Given the description of an element on the screen output the (x, y) to click on. 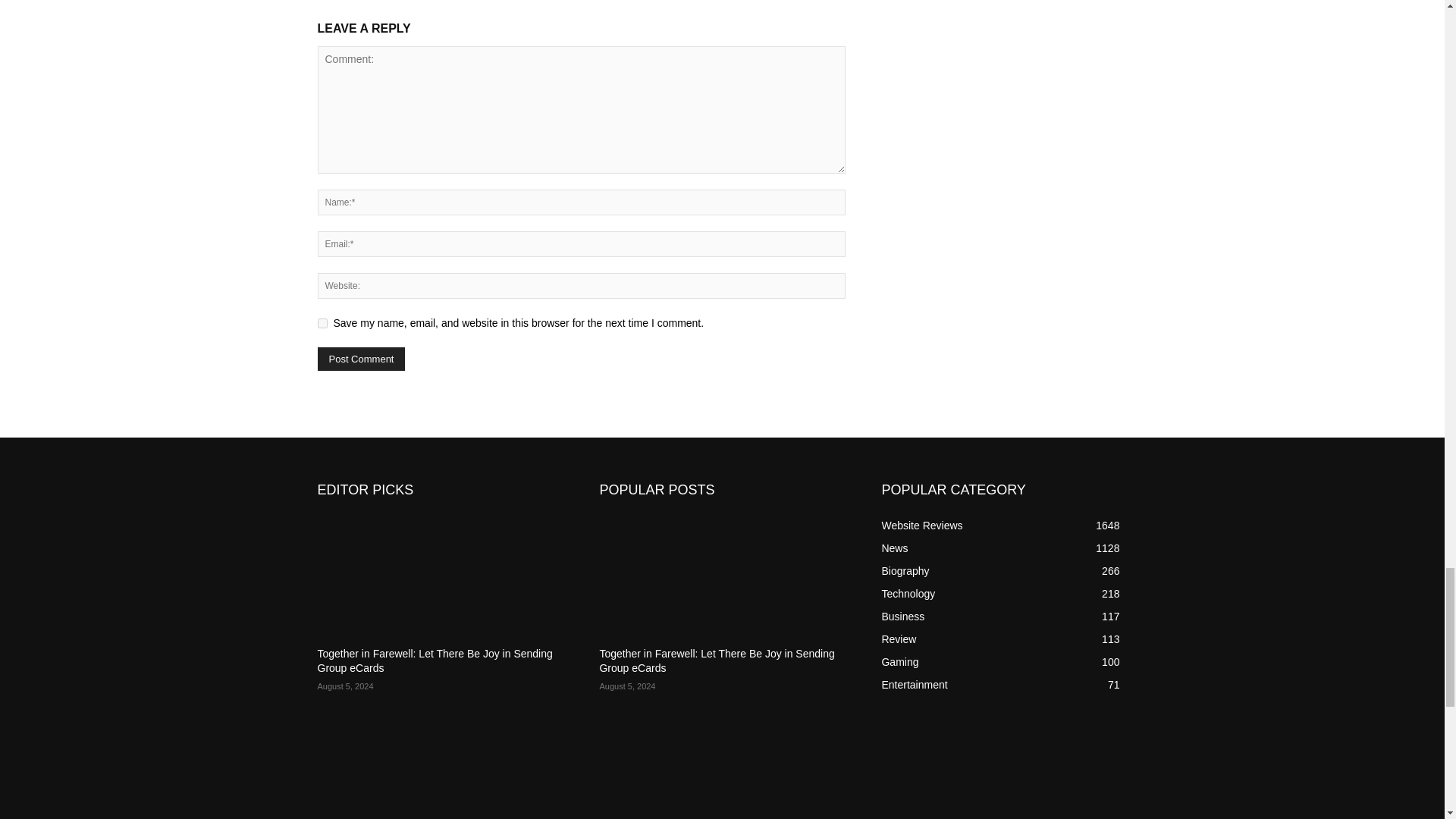
Post Comment (360, 359)
yes (321, 323)
